Given the description of an element on the screen output the (x, y) to click on. 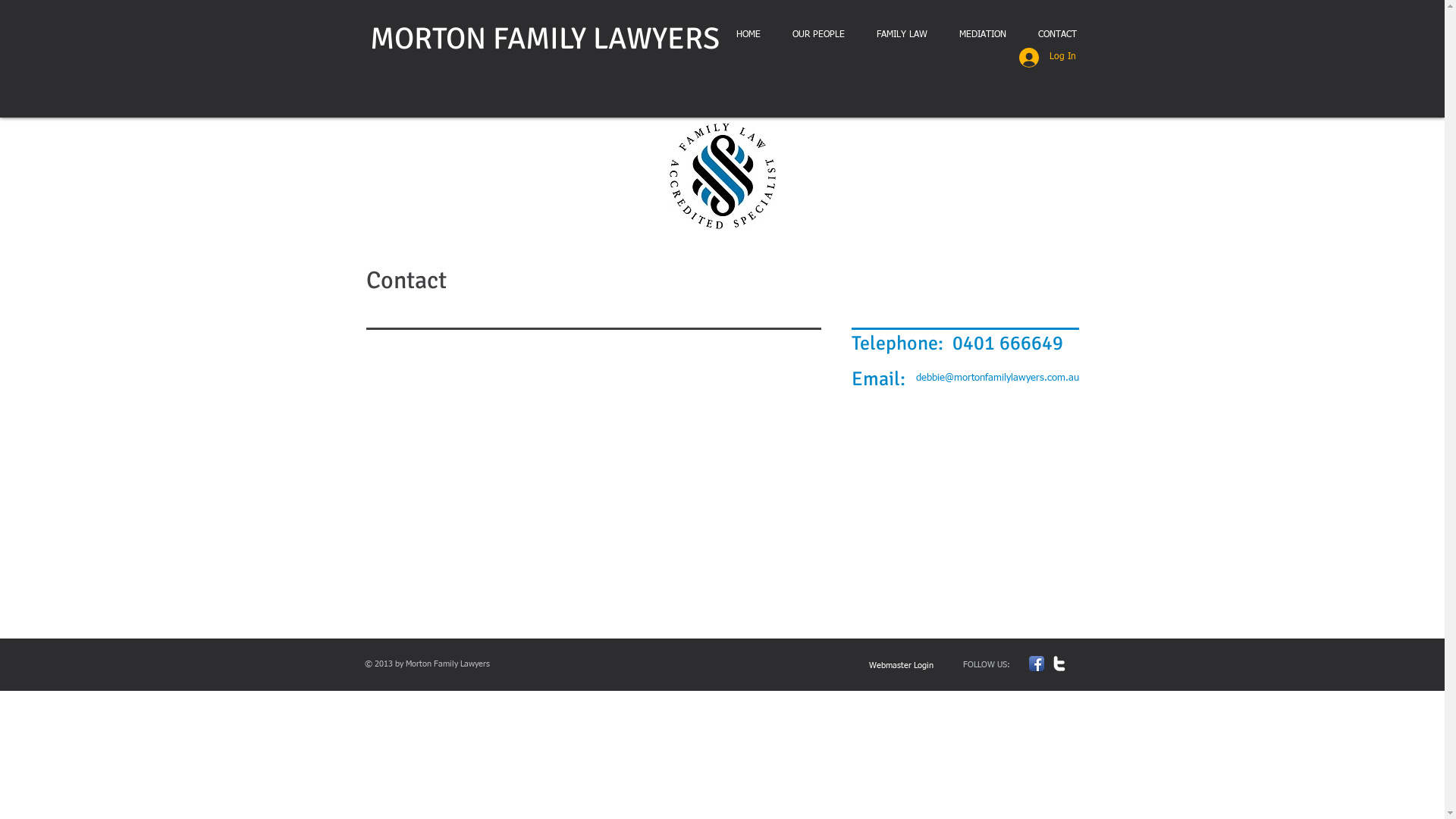
MEDIATION Element type: text (982, 34)
OUR PEOPLE Element type: text (818, 34)
FAMILY LAW Element type: text (900, 34)
CONTACT Element type: text (1057, 34)
HOME Element type: text (748, 34)
debbie@mortonfamilylawyers.com.au Element type: text (997, 377)
Log In Element type: text (1047, 57)
Webmaster Login Element type: text (900, 665)
